Given the description of an element on the screen output the (x, y) to click on. 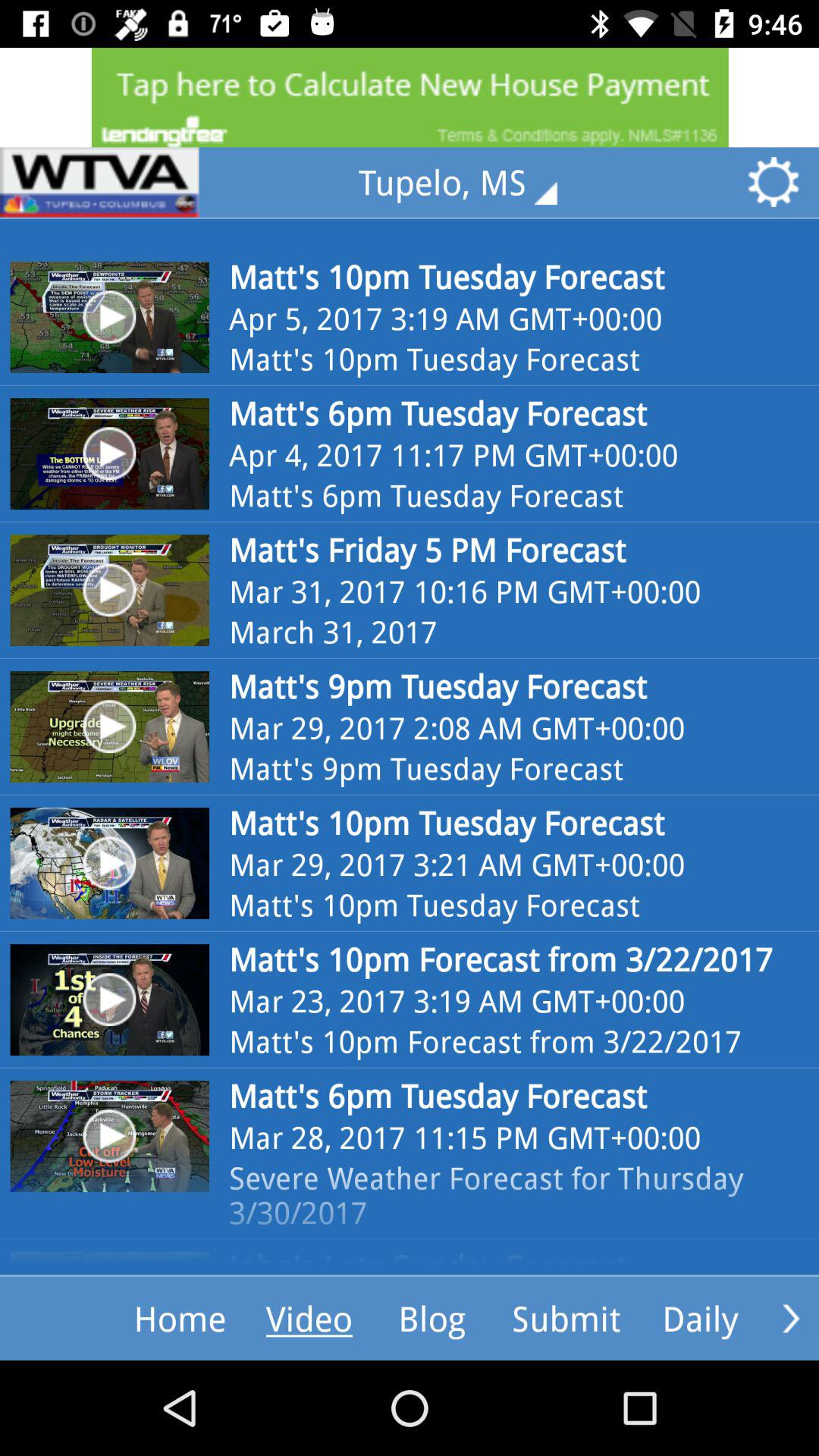
go to advertisement website (409, 97)
